Given the description of an element on the screen output the (x, y) to click on. 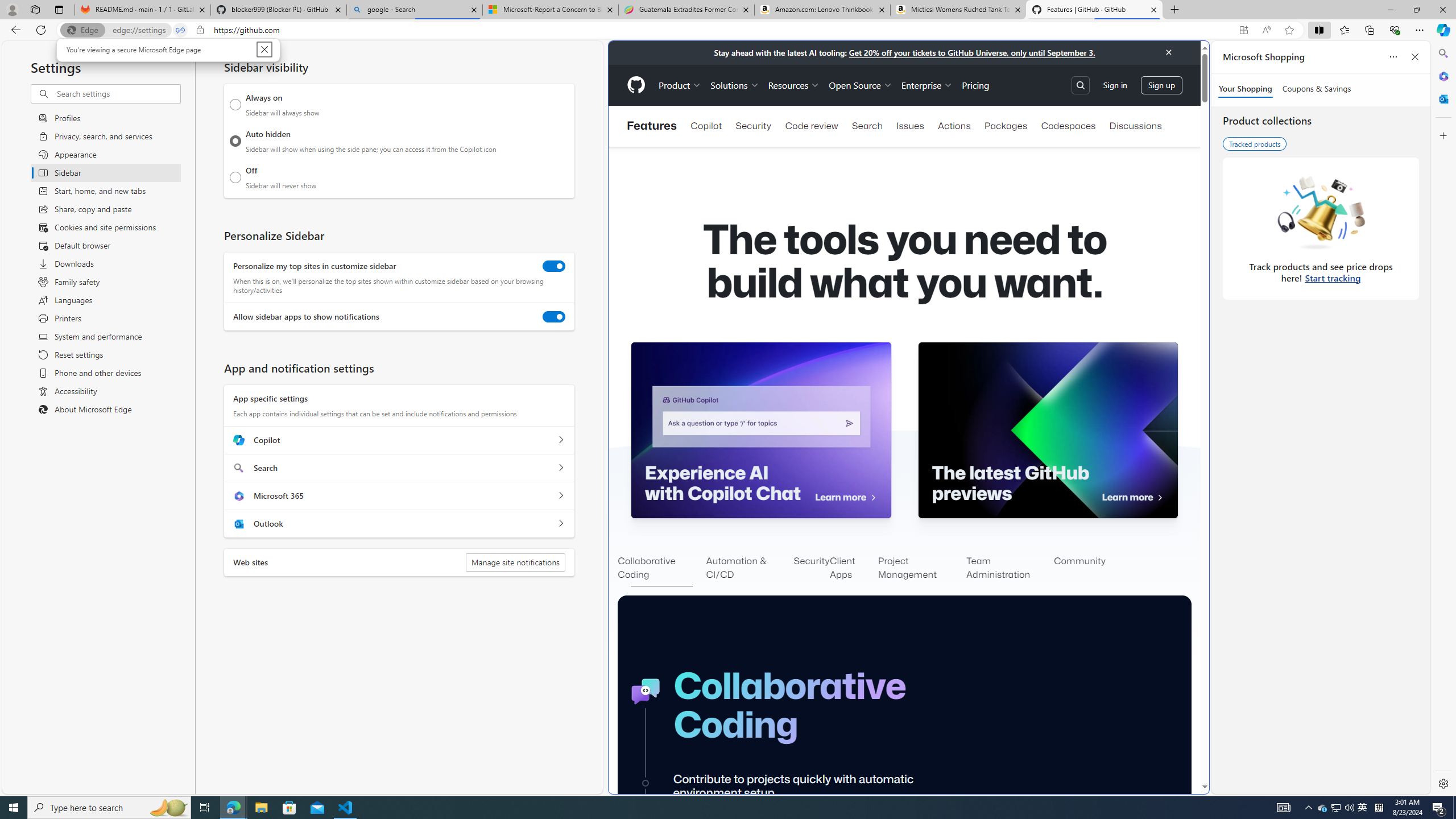
Issues (910, 125)
File Explorer (261, 807)
Actions (954, 125)
Collaborative Coding (661, 568)
Packages (1005, 125)
Personal Profile (12, 9)
Pricing (975, 84)
Customize (1442, 135)
User Promoted Notification Area (1336, 807)
Start (13, 807)
Type here to search (108, 807)
Task View (204, 807)
